Given the description of an element on the screen output the (x, y) to click on. 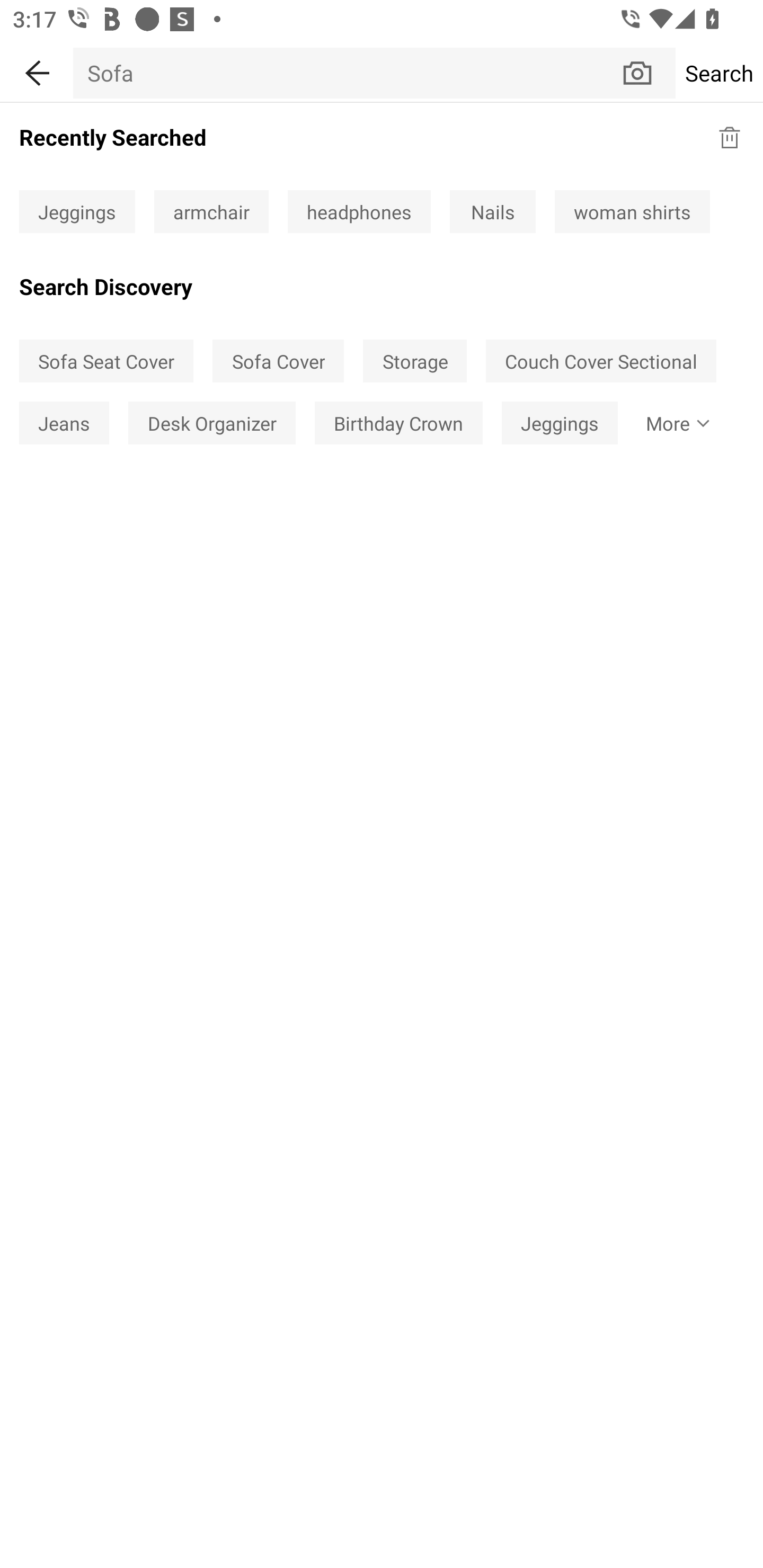
BACK (36, 69)
Sofa (346, 72)
Search (719, 72)
Jeggings (77, 211)
armchair (211, 211)
headphones (359, 211)
Nails (492, 211)
woman shirts (632, 211)
Sofa Seat Cover (106, 361)
Sofa Cover (278, 361)
Storage (414, 361)
Couch Cover Sectional (601, 361)
Jeans (64, 422)
Desk Organizer (212, 422)
Birthday Crown (398, 422)
Jeggings (560, 422)
More (673, 422)
